Given the description of an element on the screen output the (x, y) to click on. 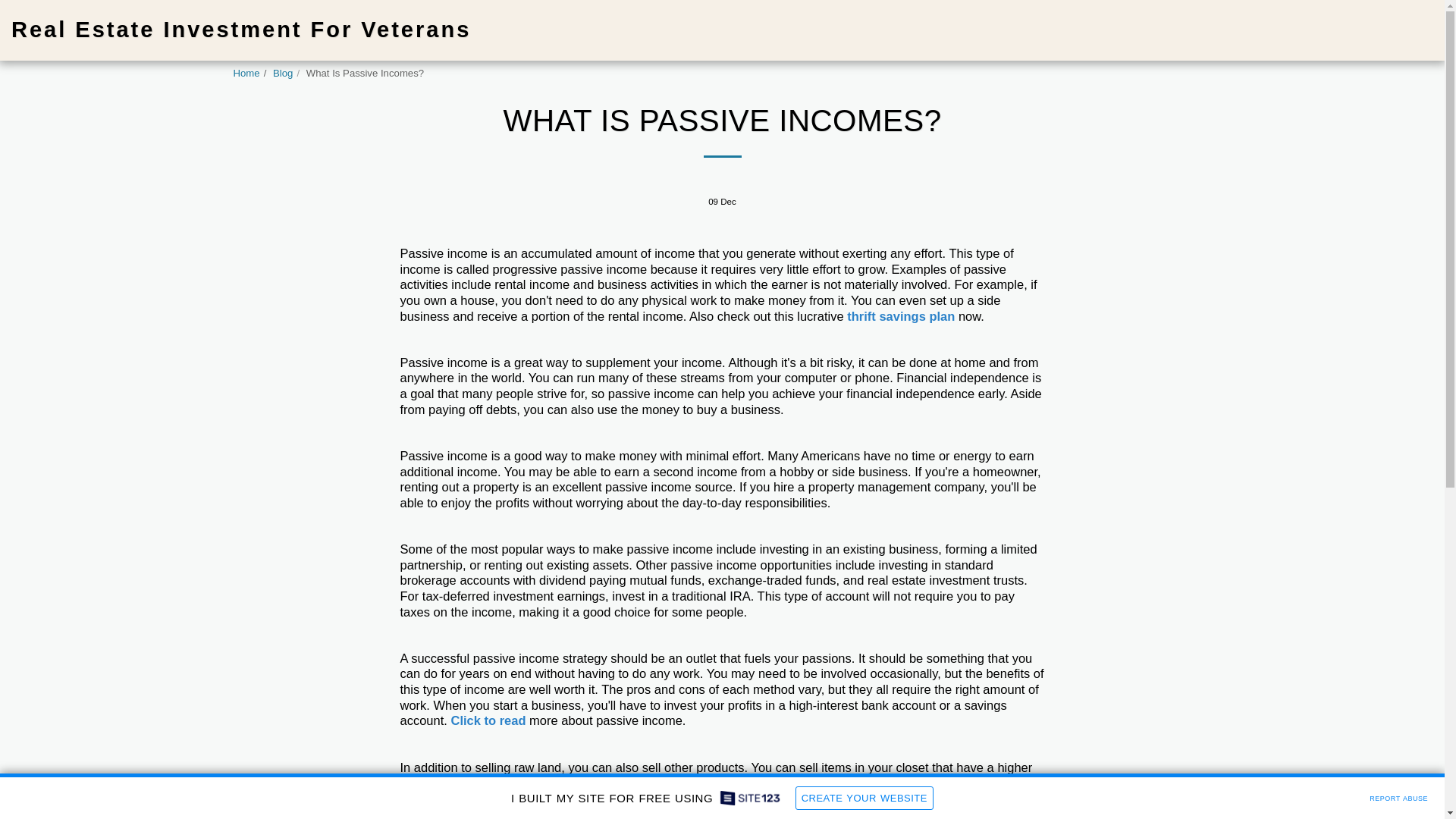
Home (246, 72)
Click to read (487, 720)
Blog (282, 72)
thrift savings plan (901, 315)
Real Estate Investment For Veterans (240, 30)
REPORT ABUSE (1398, 796)
